Given the description of an element on the screen output the (x, y) to click on. 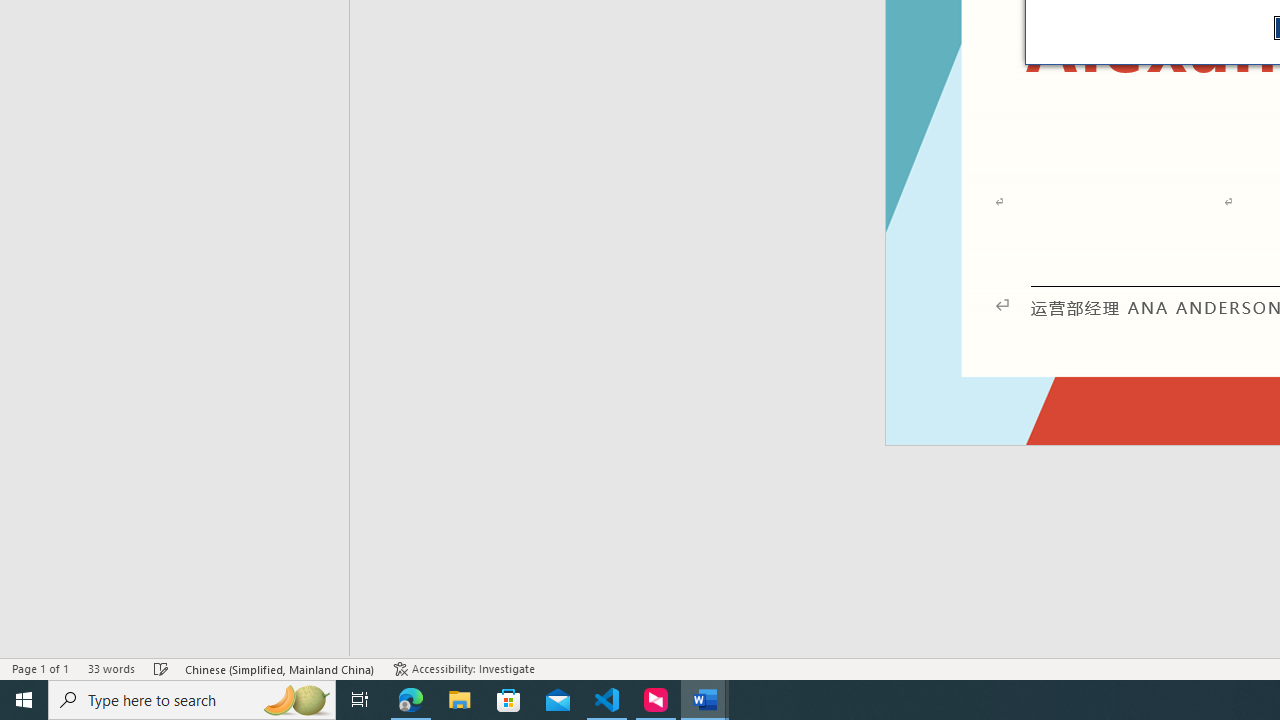
Page Number Page 1 of 1 (39, 668)
Word - 2 running windows (704, 699)
File Explorer (460, 699)
